Given the description of an element on the screen output the (x, y) to click on. 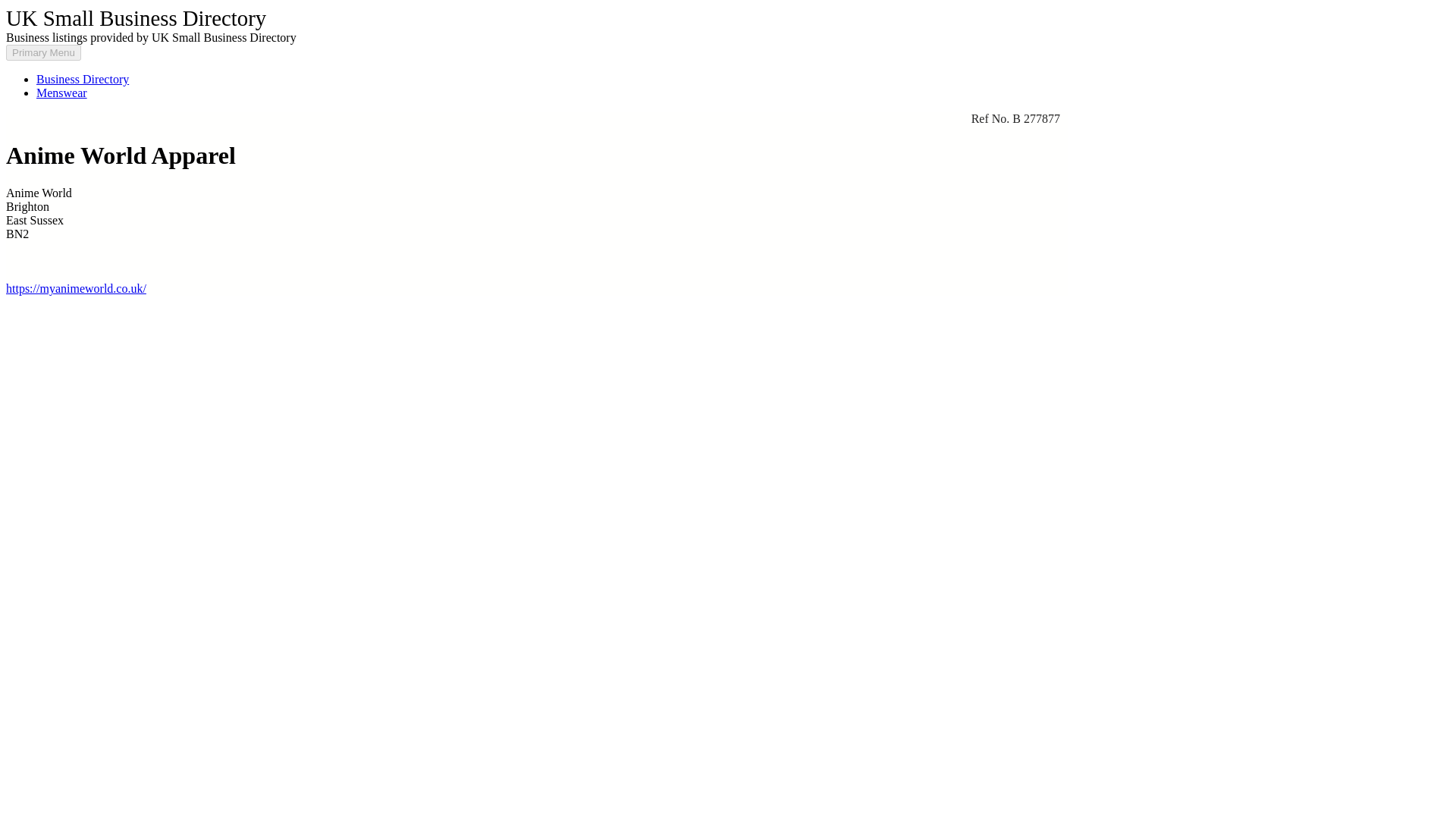
Menswear (61, 92)
Primary Menu (43, 52)
Business Directory (82, 78)
